Given the description of an element on the screen output the (x, y) to click on. 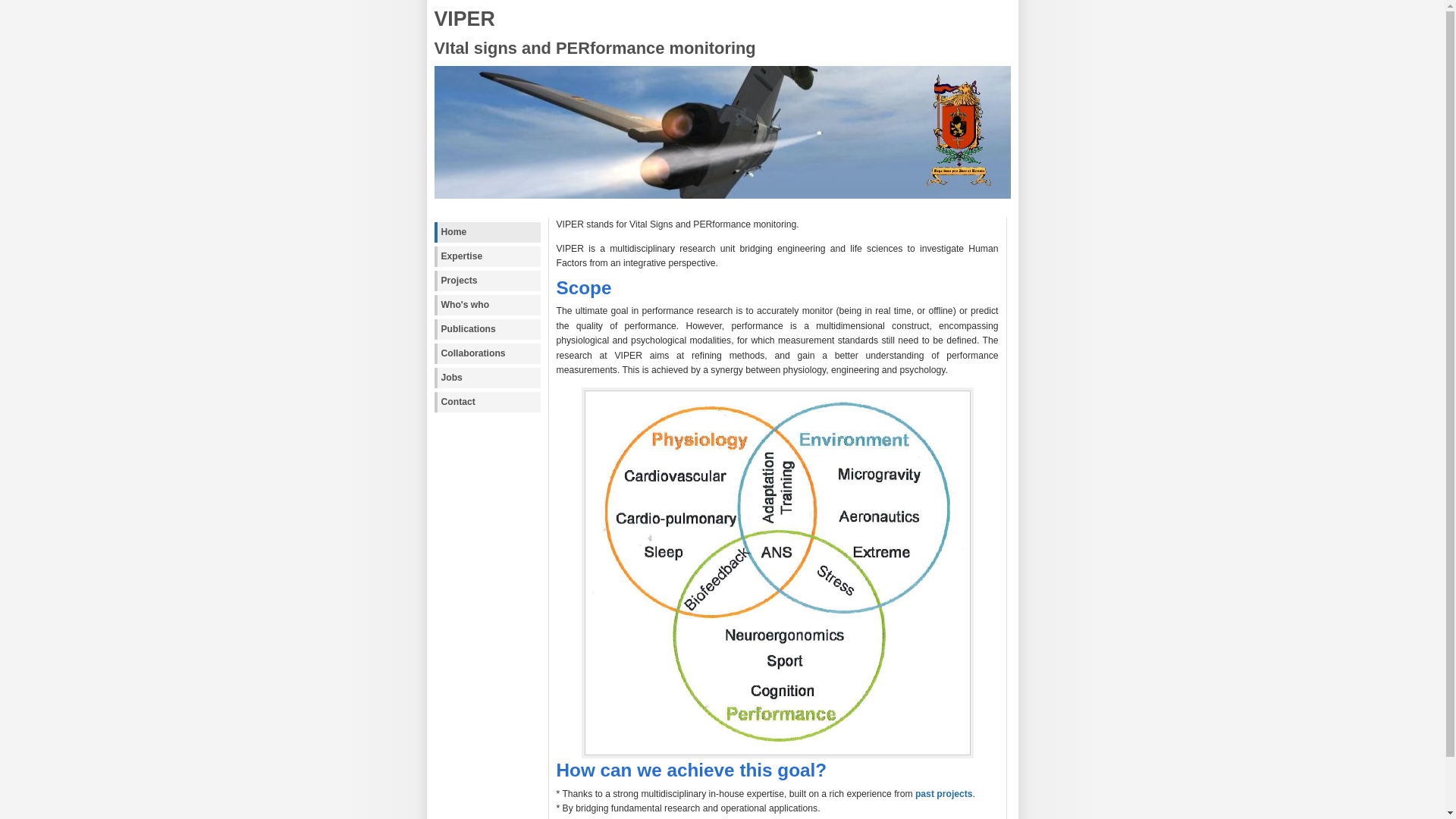
Jobs Element type: text (486, 377)
Who's who Element type: text (486, 304)
Collaborations Element type: text (486, 353)
Contact Element type: text (486, 402)
Publications Element type: text (486, 329)
past projects Element type: text (943, 793)
Expertise Element type: text (486, 256)
Projects Element type: text (486, 280)
